Given the description of an element on the screen output the (x, y) to click on. 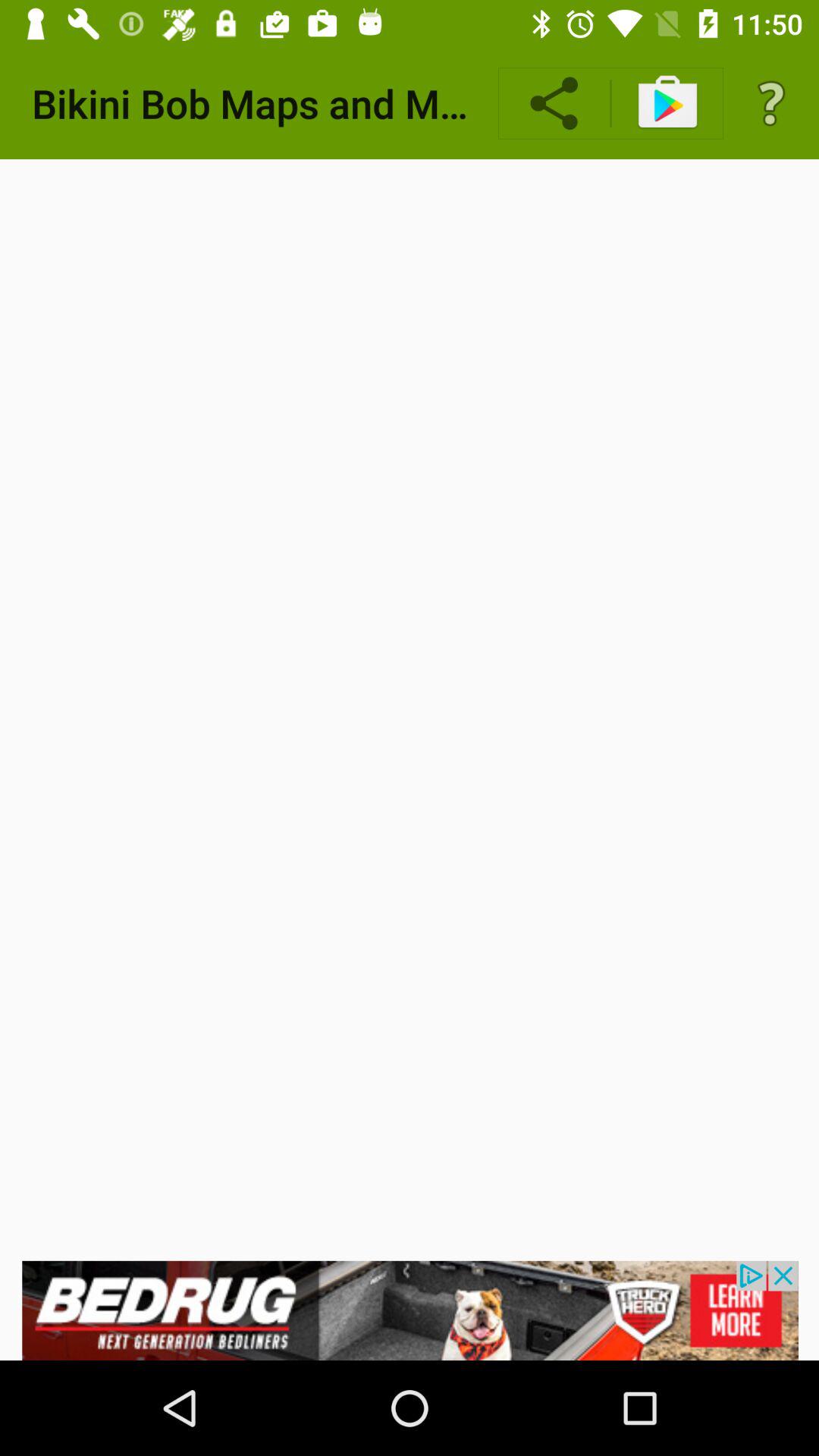
view blink advertisement (409, 1310)
